Given the description of an element on the screen output the (x, y) to click on. 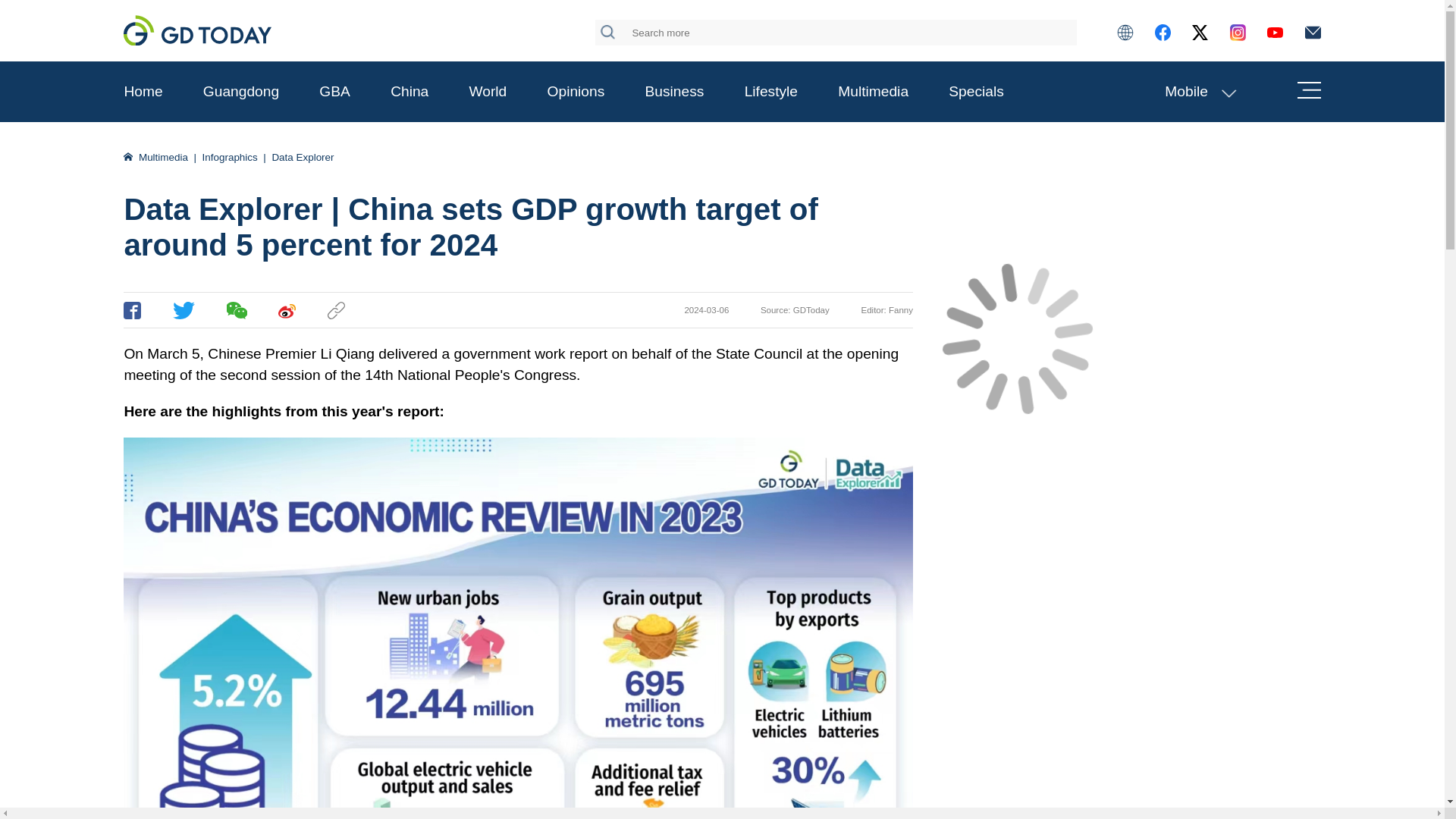
Facebook (132, 310)
China (409, 91)
Business (674, 91)
World (487, 91)
Multimedia (873, 91)
Home (142, 91)
Specials (976, 91)
Opinions (576, 91)
GBA (334, 91)
Lifestyle (770, 91)
Guangdong (241, 91)
Twitter (184, 310)
Weibo (286, 310)
